Given the description of an element on the screen output the (x, y) to click on. 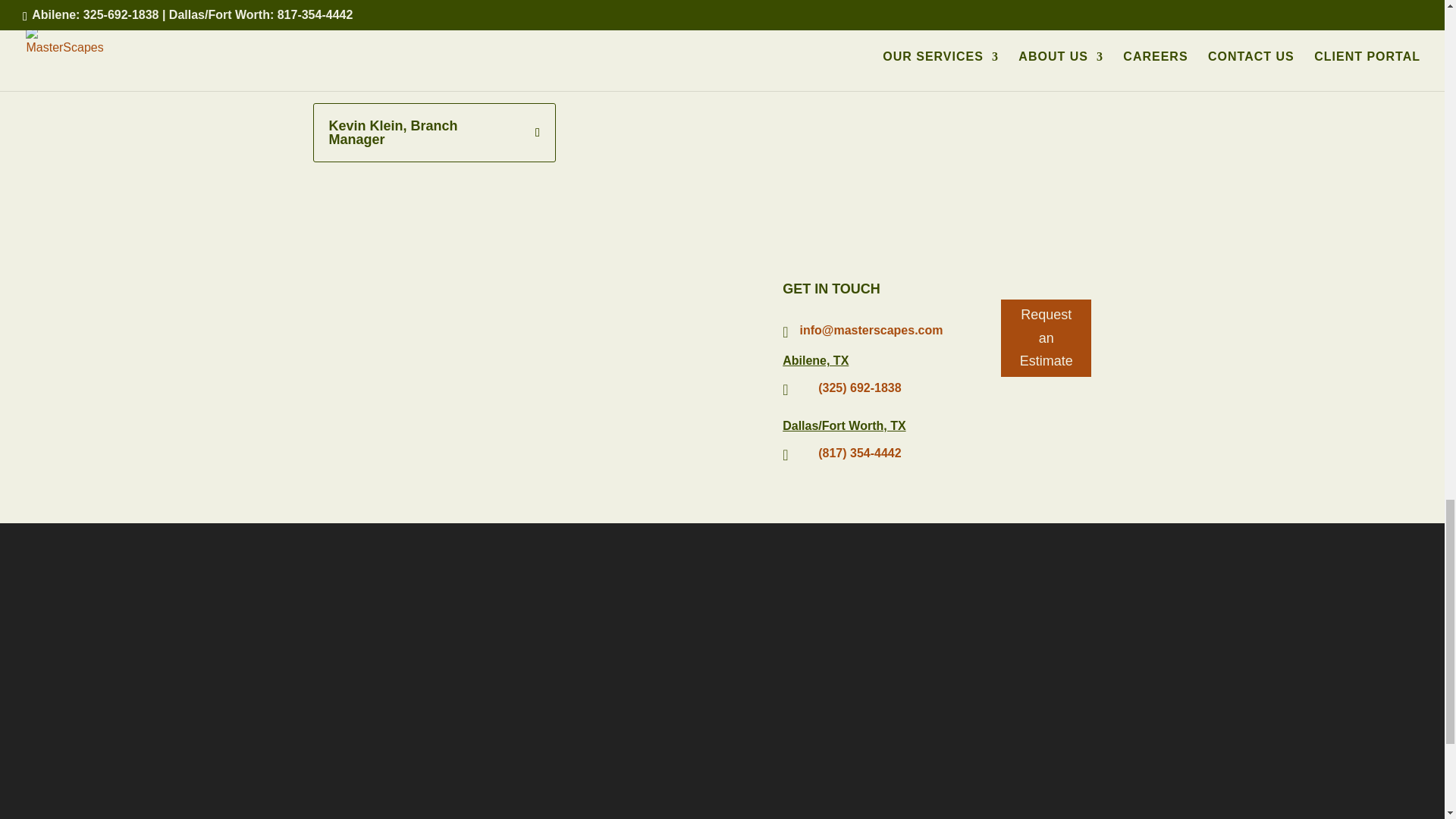
Request an Estimate (1045, 338)
